Given the description of an element on the screen output the (x, y) to click on. 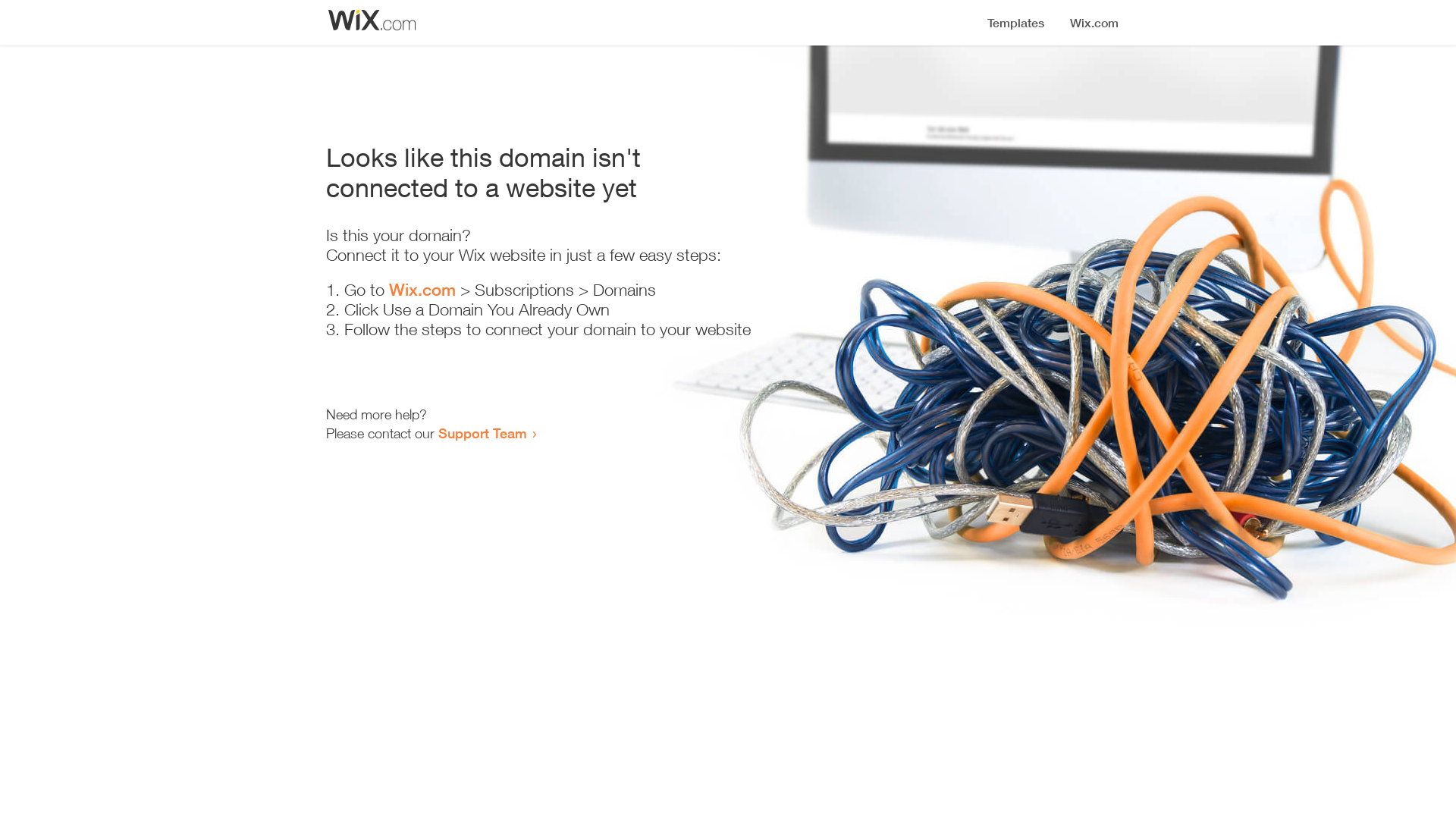
Support Team Element type: text (482, 432)
Wix.com Element type: text (422, 289)
